Given the description of an element on the screen output the (x, y) to click on. 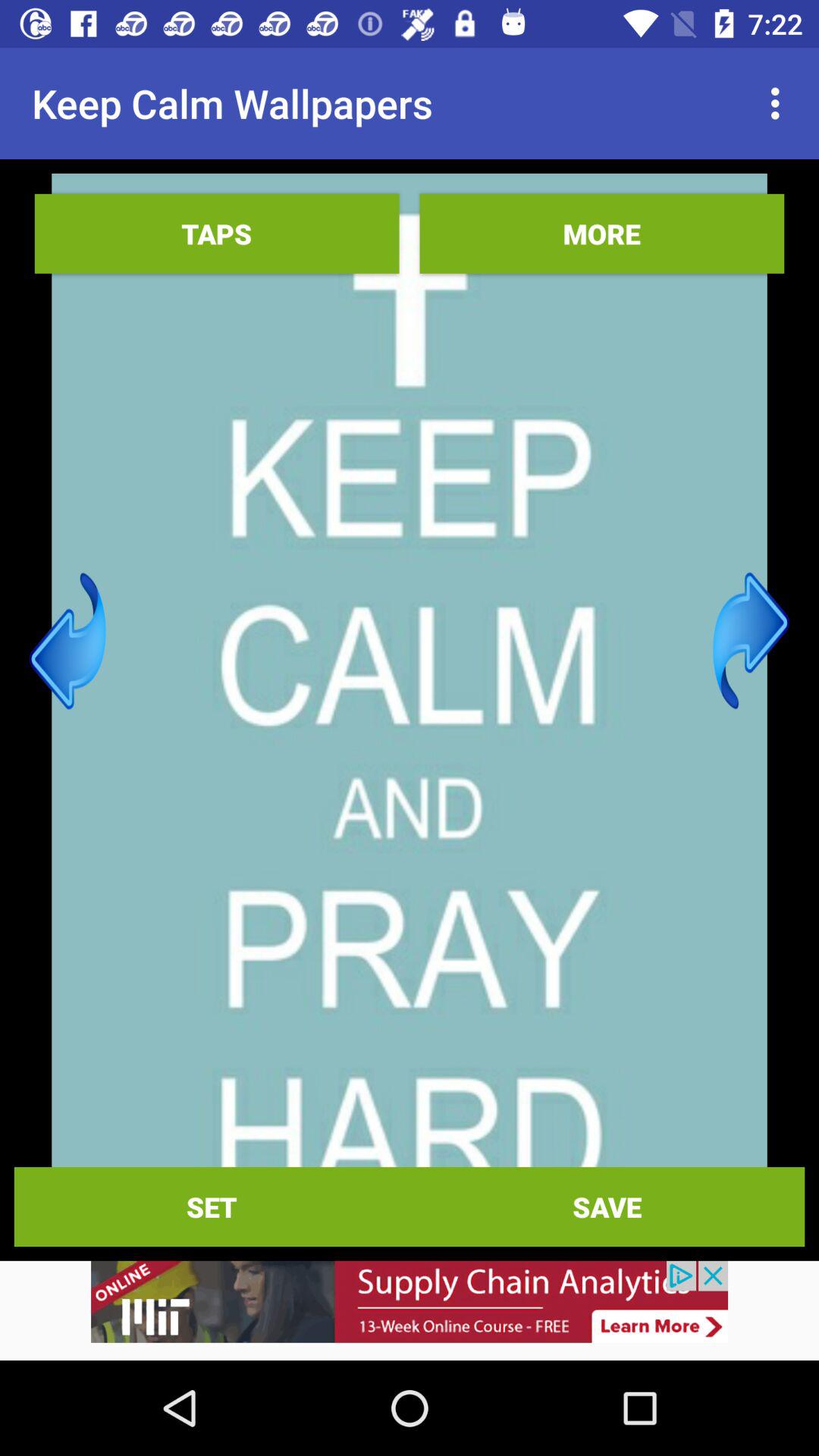
go to previous (68, 640)
